Given the description of an element on the screen output the (x, y) to click on. 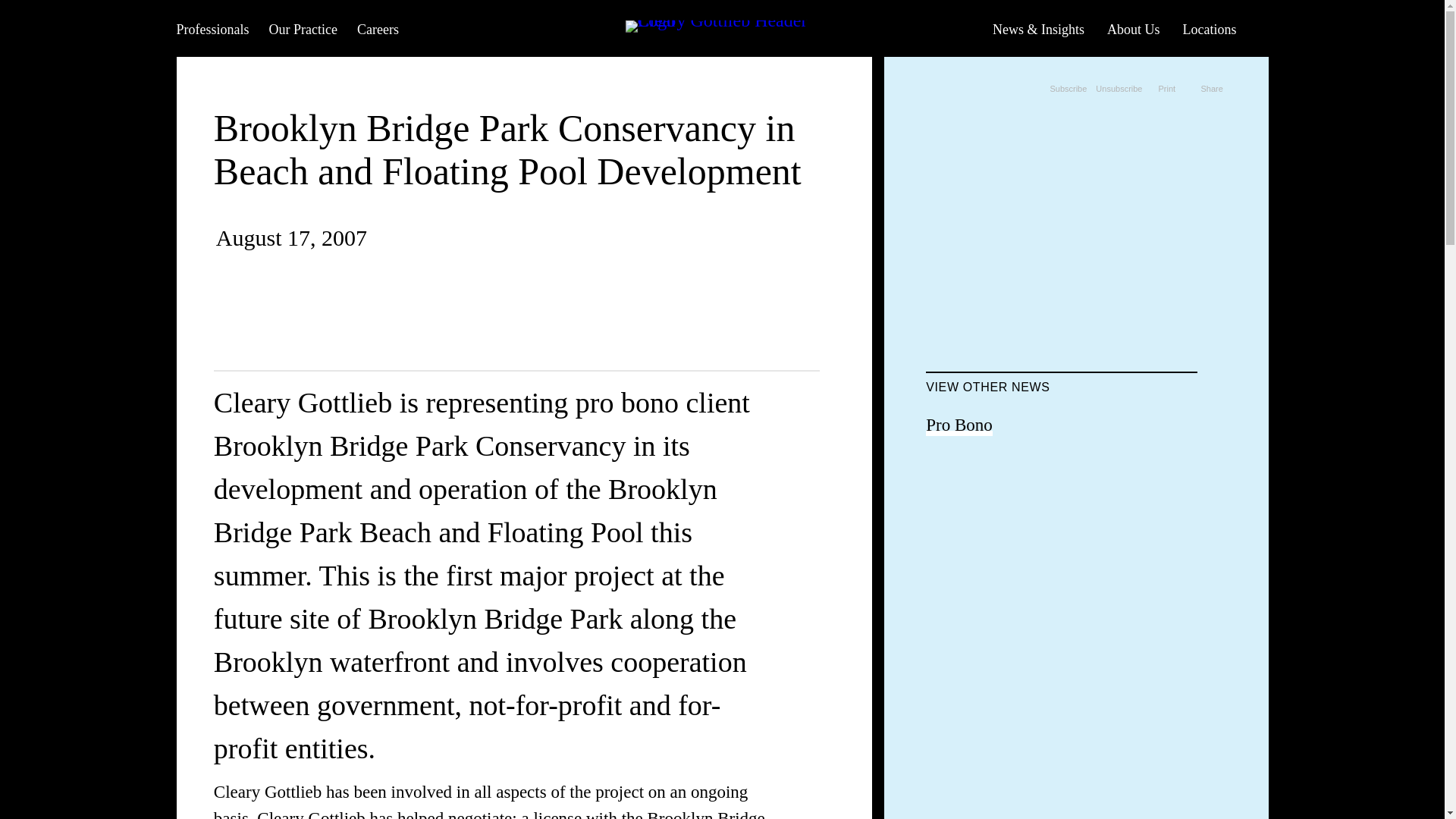
Professionals (212, 28)
About Us (1133, 28)
Home (721, 28)
Our Practice (301, 28)
Search (1257, 27)
About Us (1133, 28)
Our Practice (301, 28)
Locations (1209, 28)
Locations (1209, 28)
Professionals (212, 28)
